Given the description of an element on the screen output the (x, y) to click on. 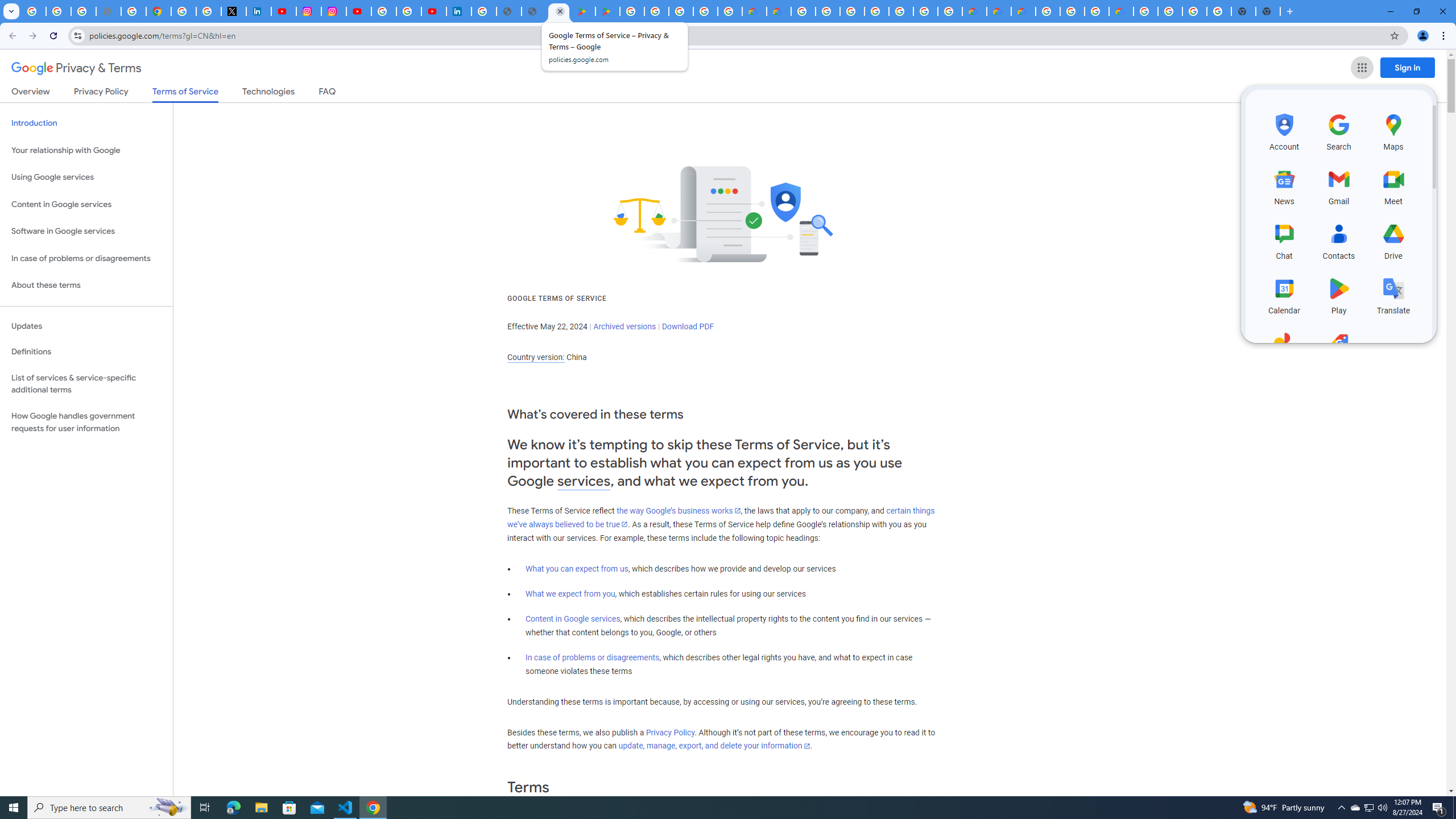
Google Cloud Platform (803, 11)
Sign in - Google Accounts (383, 11)
YouTube Content Monetization Policies - How YouTube Works (283, 11)
Archived versions (624, 326)
Google apps (1362, 67)
In case of problems or disagreements (592, 657)
Google Workspace - Specific Terms (728, 11)
What you can expect from us (576, 568)
